Given the description of an element on the screen output the (x, y) to click on. 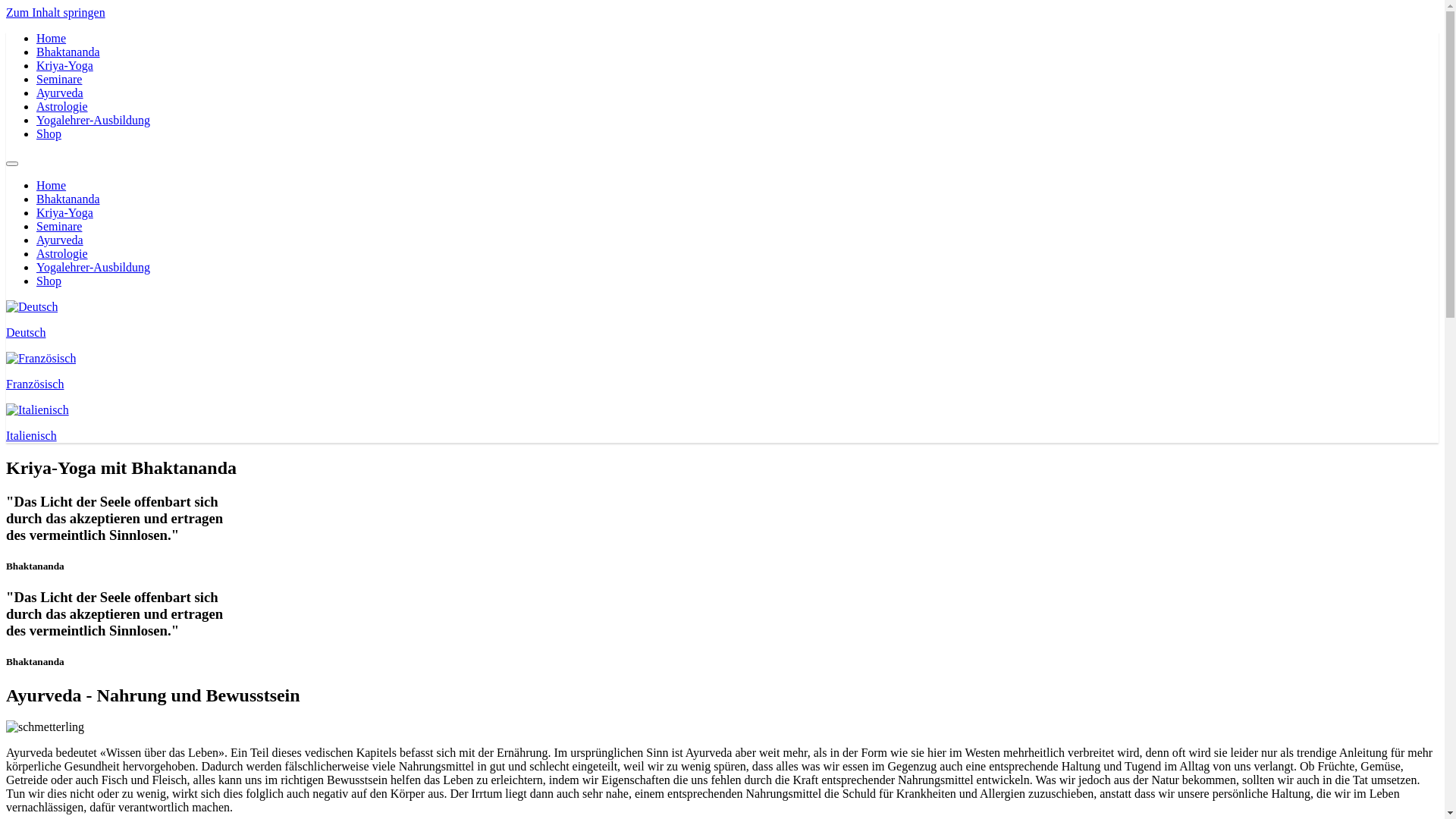
Seminare Element type: text (58, 225)
schmetterling Element type: hover (45, 727)
Seminare Element type: text (58, 78)
Ayurveda Element type: text (59, 92)
Kriya-Yoga Element type: text (64, 65)
Astrologie Element type: text (61, 106)
Bhaktananda Element type: text (68, 51)
Italienisch Element type: text (722, 422)
Home Element type: text (50, 184)
Zum Inhalt springen Element type: text (55, 12)
Yogalehrer-Ausbildung Element type: text (93, 266)
Shop Element type: text (48, 133)
Astrologie Element type: text (61, 253)
Deutsch Element type: text (722, 319)
Shop Element type: text (48, 280)
Yogalehrer-Ausbildung Element type: text (93, 119)
Bhaktananda Element type: text (68, 198)
Ayurveda Element type: text (59, 239)
Home Element type: text (50, 37)
Kriya-Yoga Element type: text (64, 212)
